Given the description of an element on the screen output the (x, y) to click on. 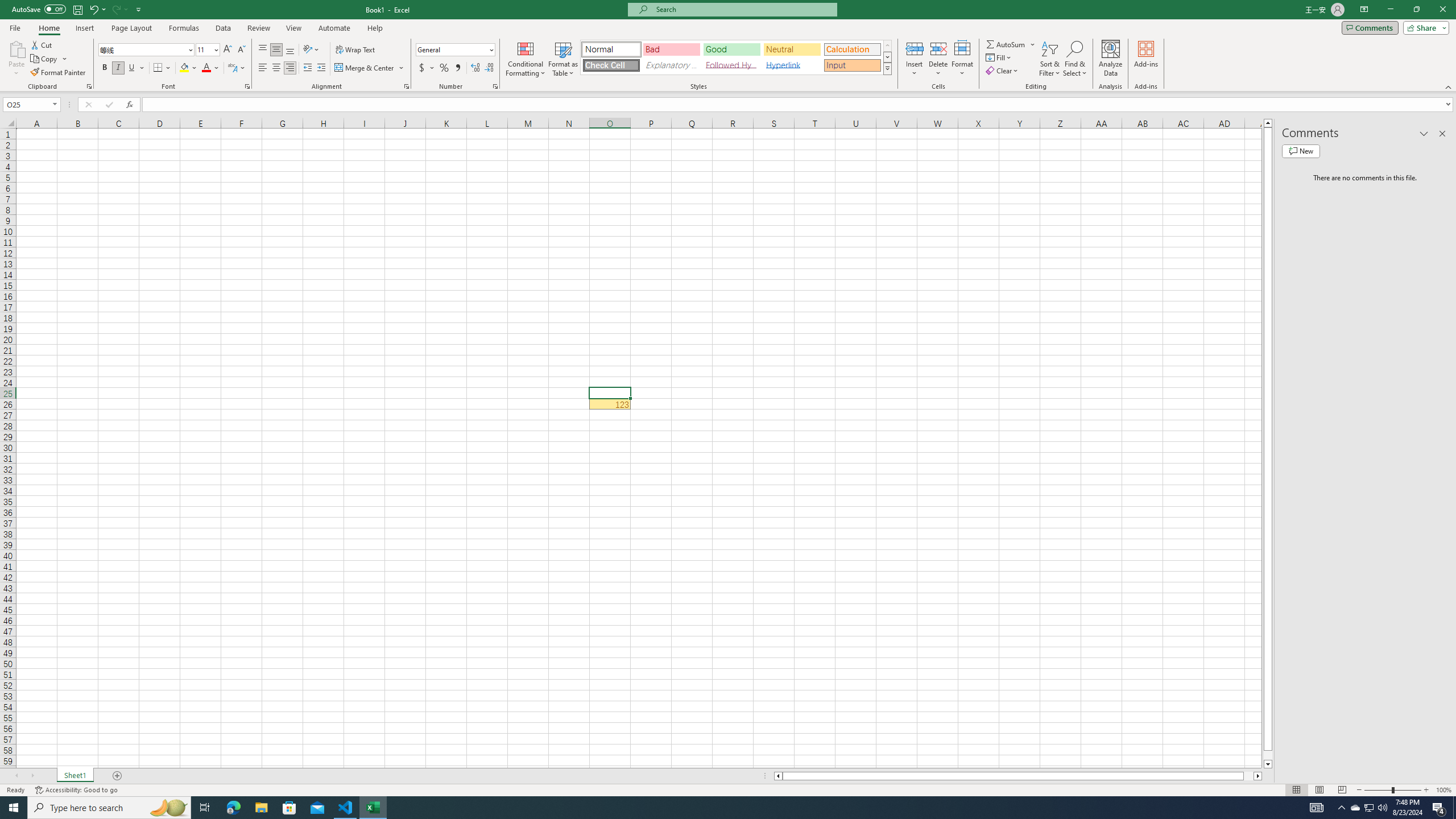
Font (147, 49)
Class: MsoCommandBar (728, 45)
Orientation (311, 49)
Followed Hyperlink (731, 65)
Wrap Text (355, 49)
Bottom Border (157, 67)
Find & Select (1075, 58)
Formula Bar (799, 104)
Format as Table (563, 58)
Underline (131, 67)
